Given the description of an element on the screen output the (x, y) to click on. 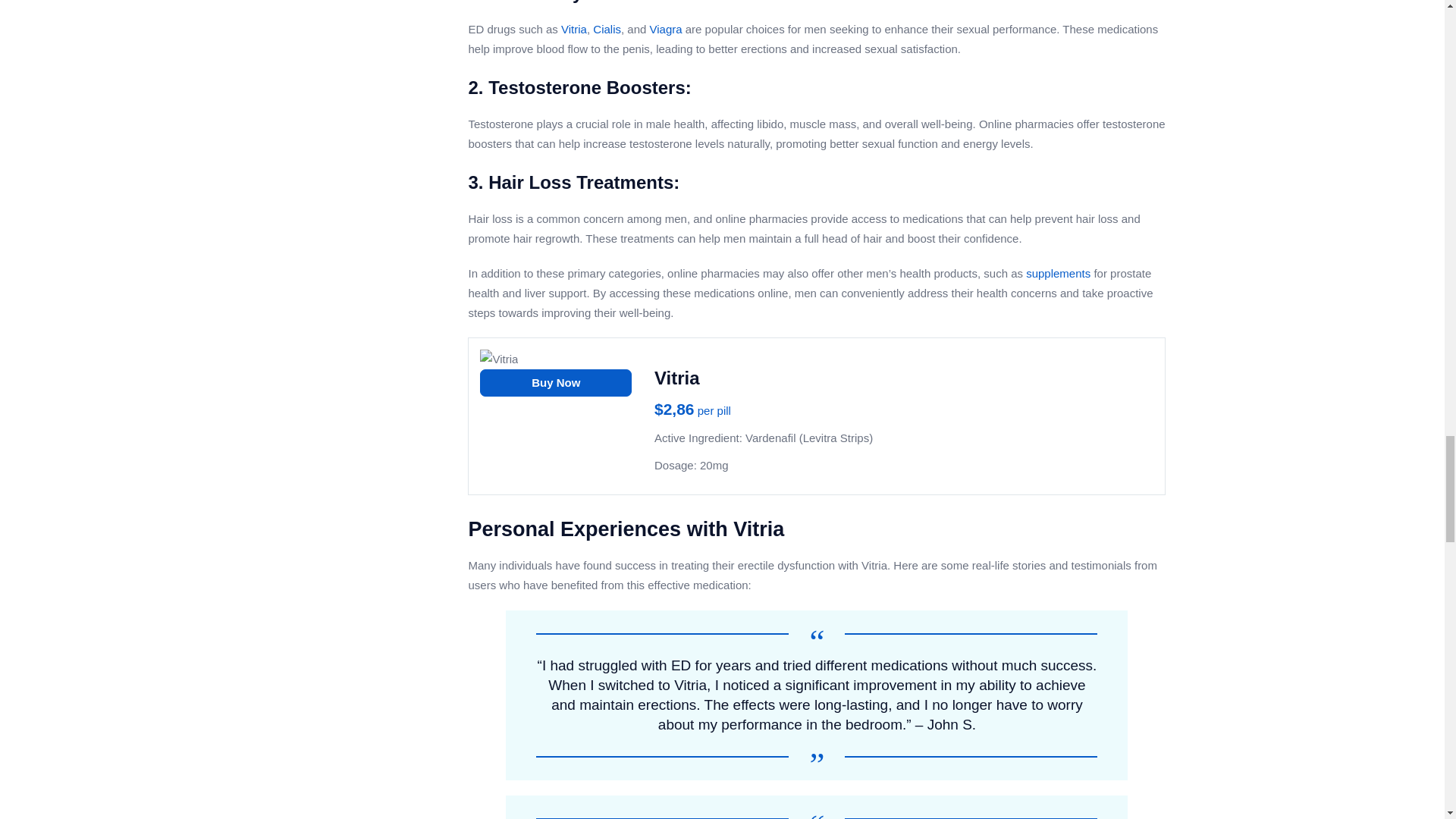
Cialis (606, 29)
Buy Now (555, 382)
Viagra (665, 29)
supplements (1058, 273)
Vitria (573, 29)
Buy Now (555, 382)
